Given the description of an element on the screen output the (x, y) to click on. 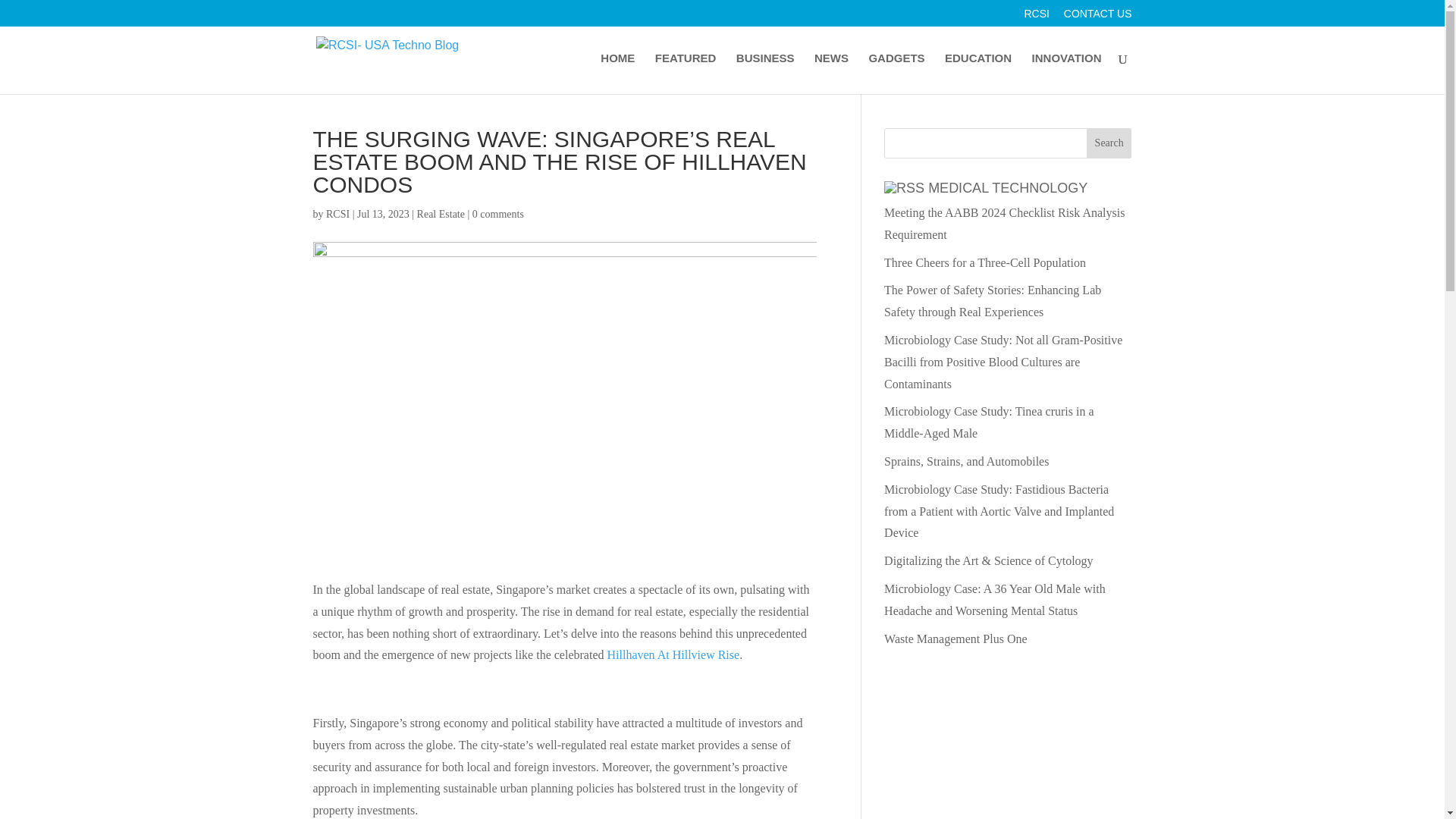
Posts by RCSI (337, 214)
Search (1109, 142)
RCSI (337, 214)
FEATURED (685, 73)
GADGETS (895, 73)
Waste Management Plus One (954, 638)
BUSINESS (765, 73)
RCSI (1035, 16)
